Given the description of an element on the screen output the (x, y) to click on. 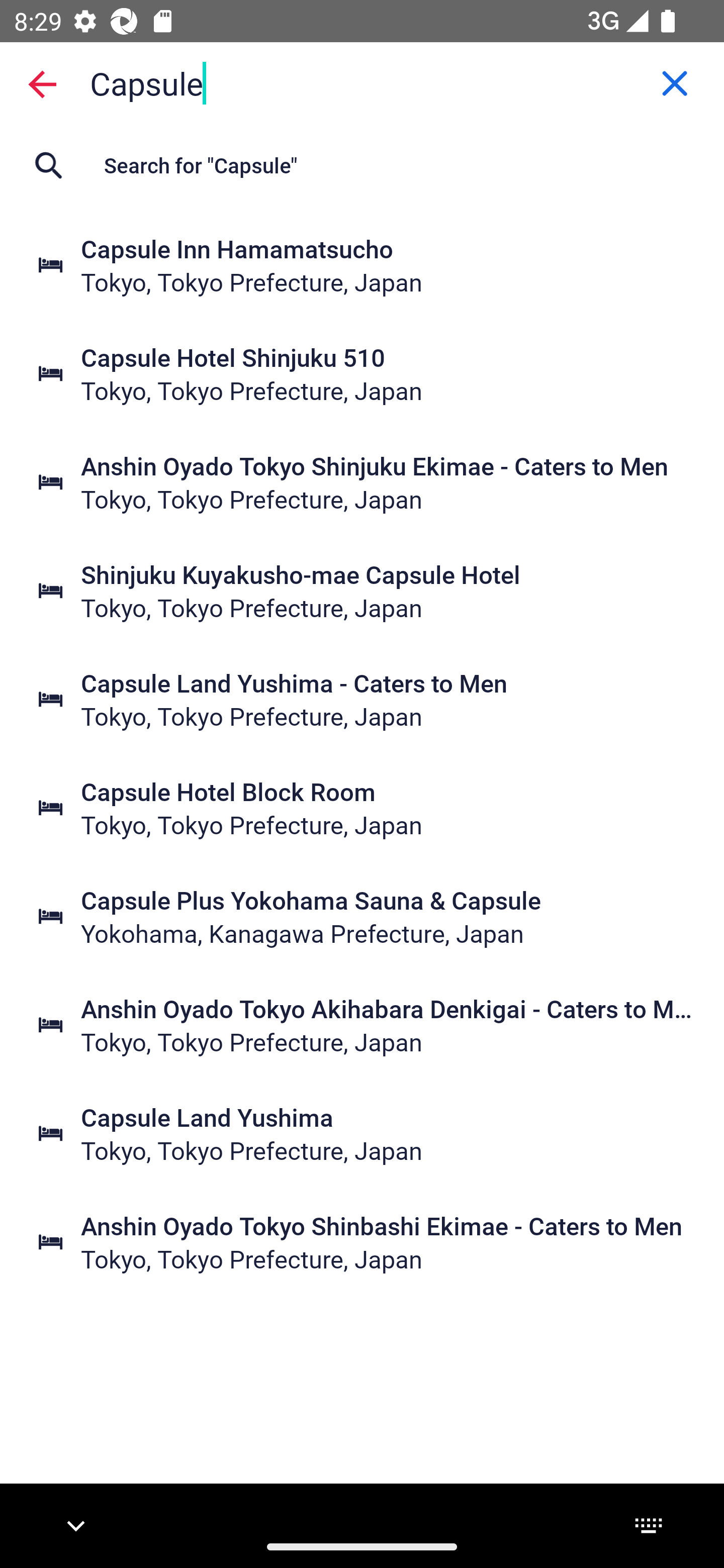
Clear query (674, 82)
Property name, Capsule (361, 82)
Back to search screen (41, 83)
Search for "Capsule" (362, 165)
